Given the description of an element on the screen output the (x, y) to click on. 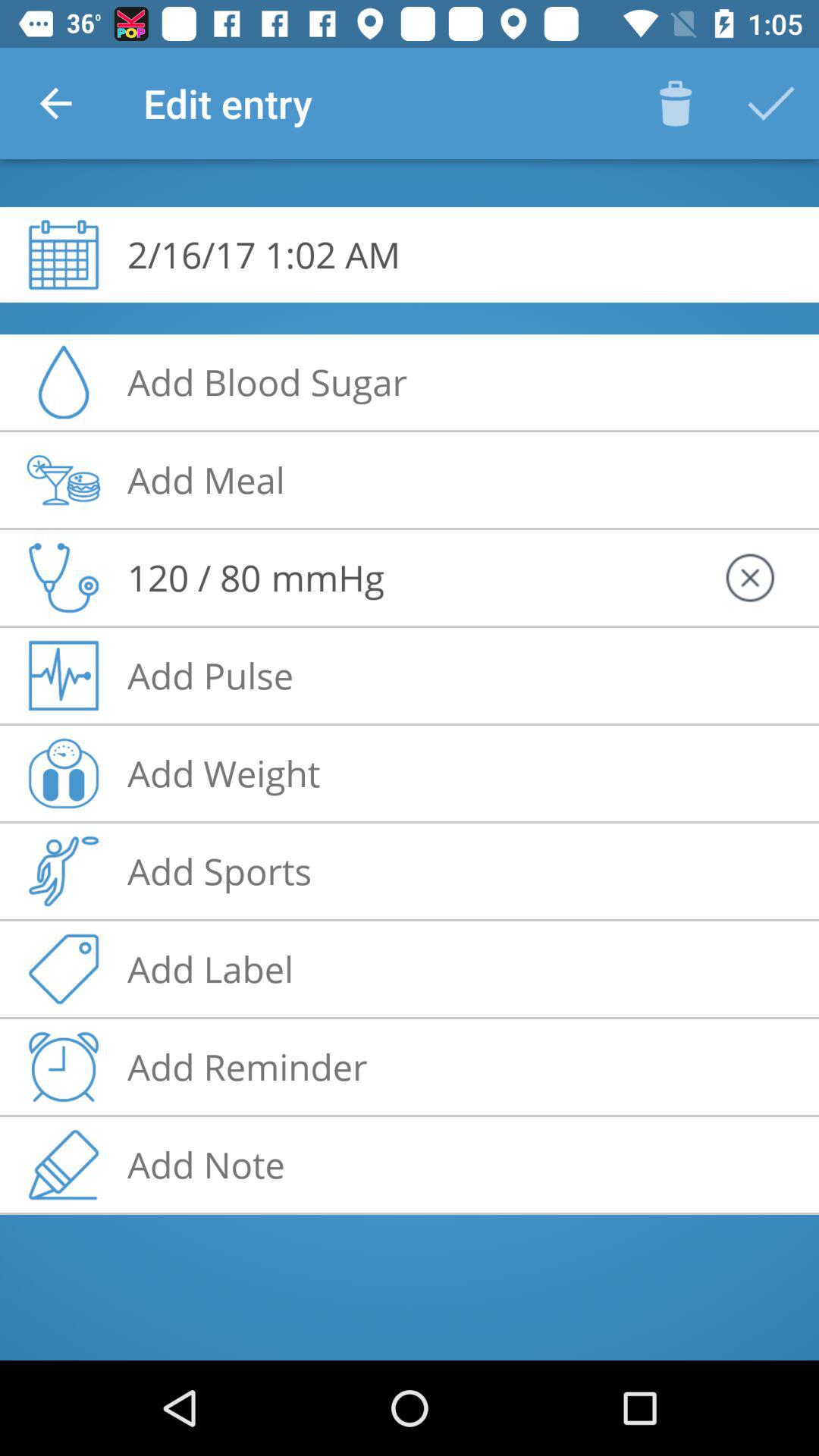
click the item to the right of the mmhg item (749, 577)
